Given the description of an element on the screen output the (x, y) to click on. 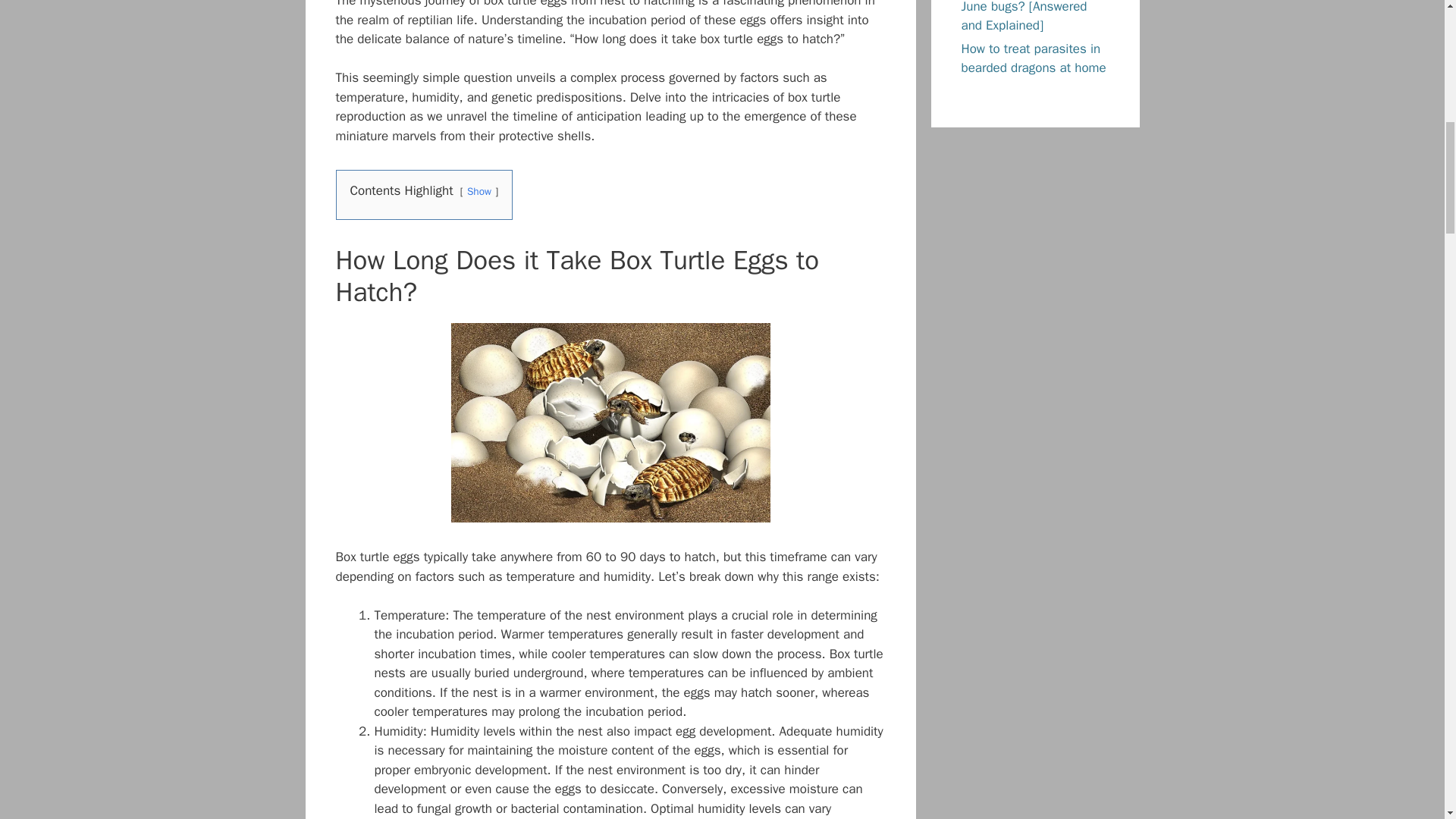
How to treat parasites in bearded dragons at home (1033, 58)
Show (479, 191)
Scroll back to top (1406, 720)
